Given the description of an element on the screen output the (x, y) to click on. 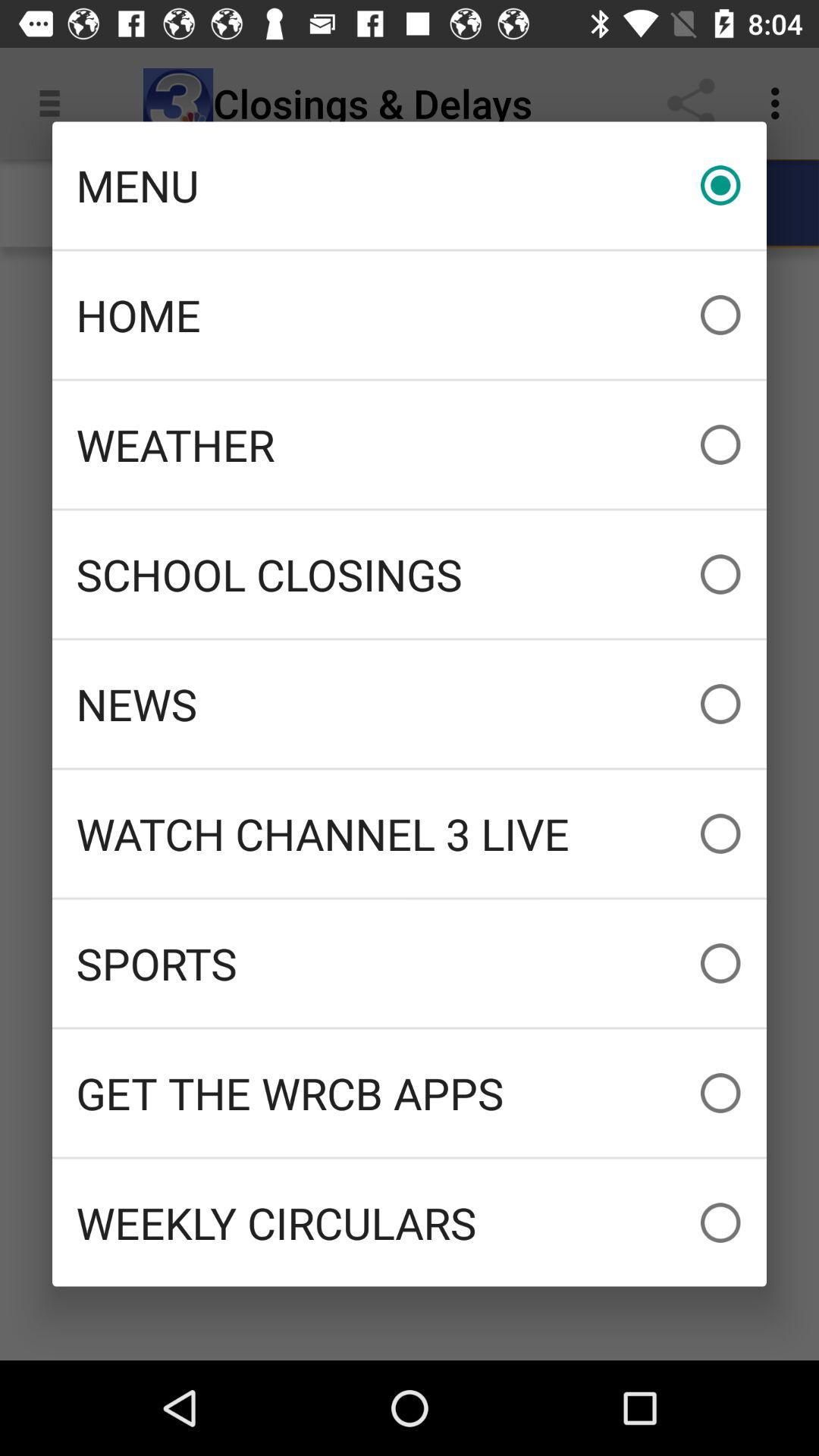
turn on the item above watch channel 3 (409, 703)
